Given the description of an element on the screen output the (x, y) to click on. 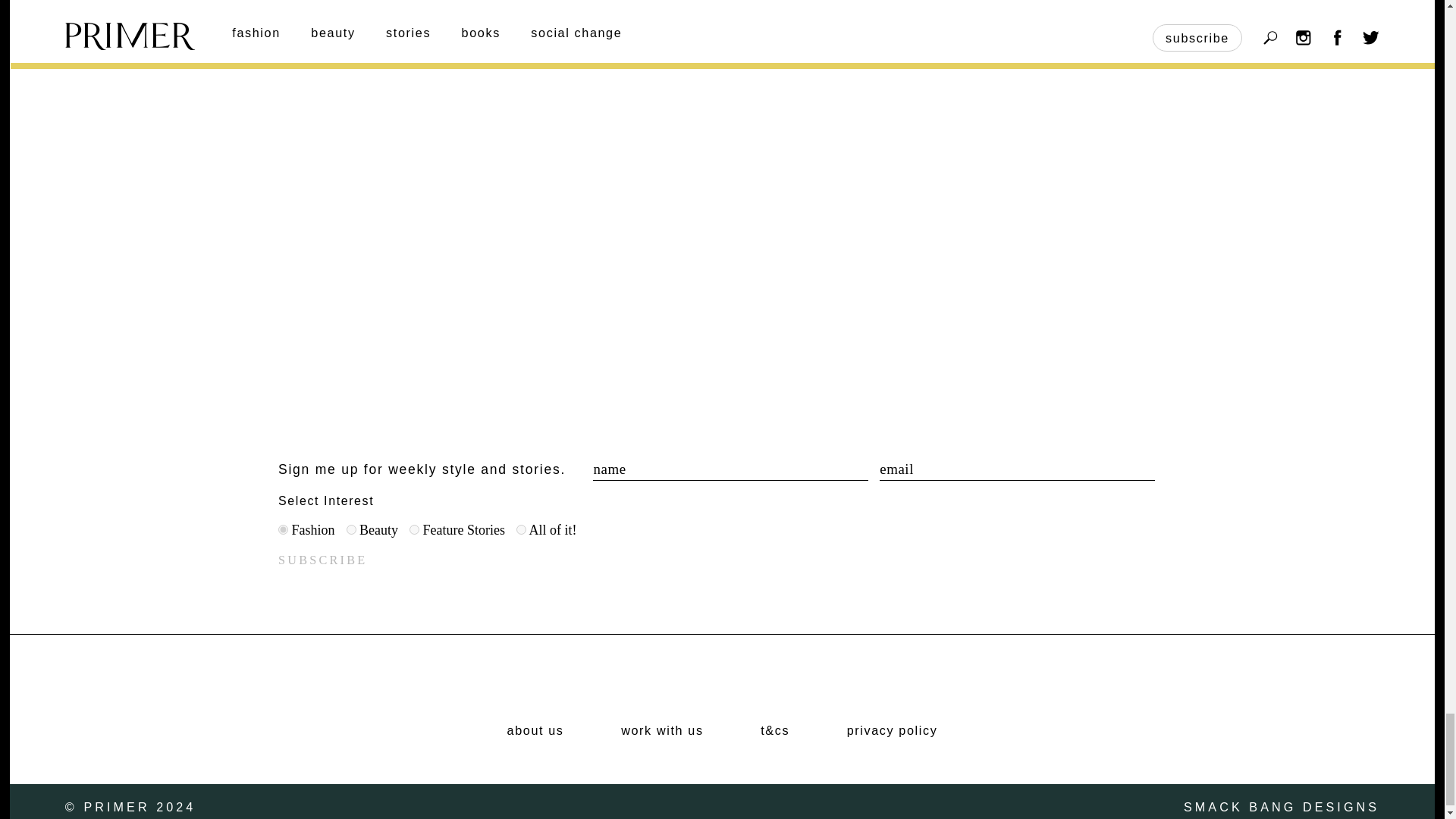
Subscribe (322, 560)
Feature Stories (414, 529)
All of it! (520, 529)
Fashion (283, 529)
Beauty (350, 529)
